Given the description of an element on the screen output the (x, y) to click on. 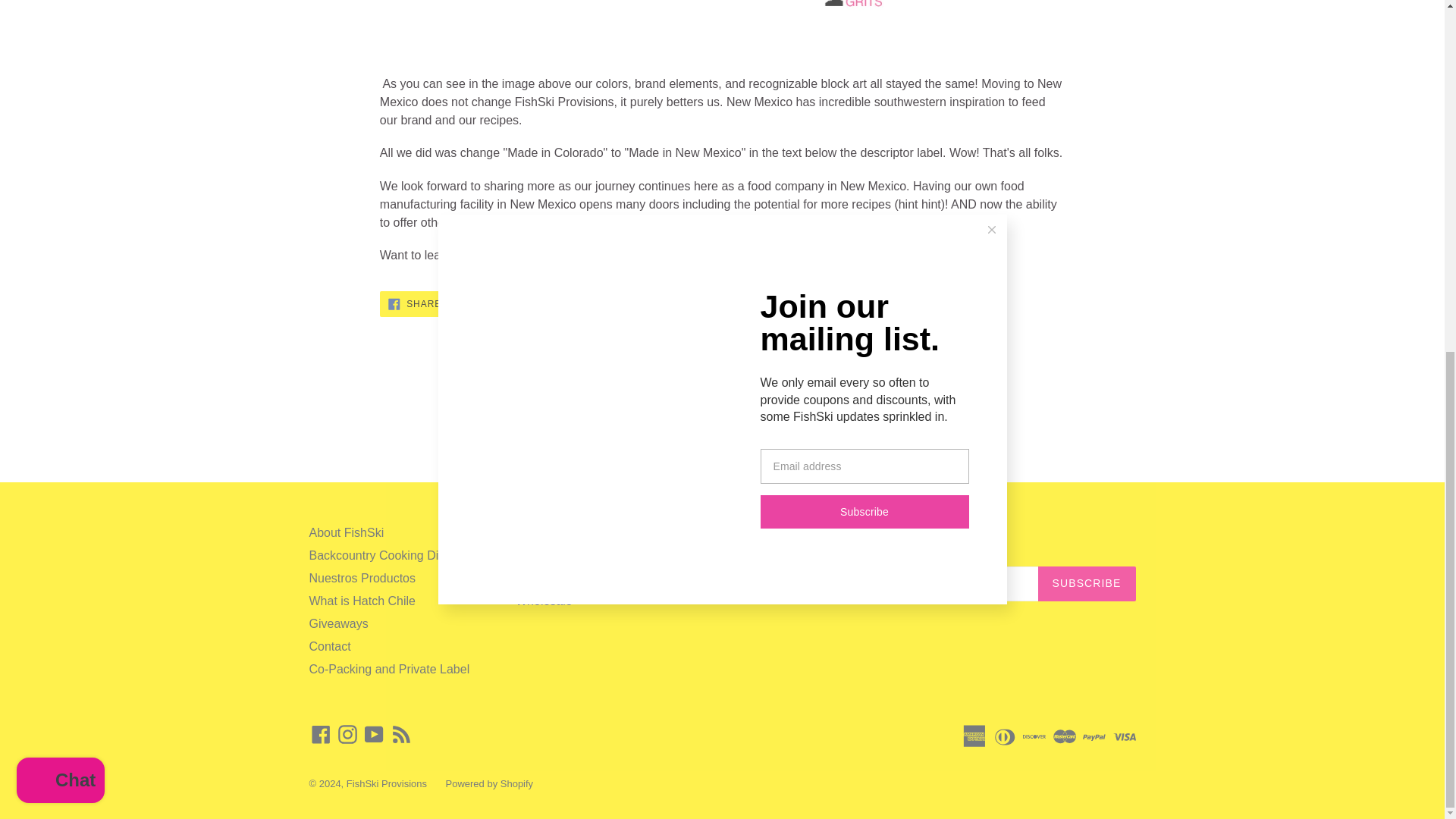
Backcountry Cooking Directions (394, 554)
FishSki Provisions on Instagram (347, 733)
FishSki Provisions on YouTube (373, 733)
RSS (401, 733)
FishSki Provisions (386, 783)
FishSki Provisions on Facebook (492, 303)
YouTube (566, 303)
Share on Facebook (320, 733)
